Given the description of an element on the screen output the (x, y) to click on. 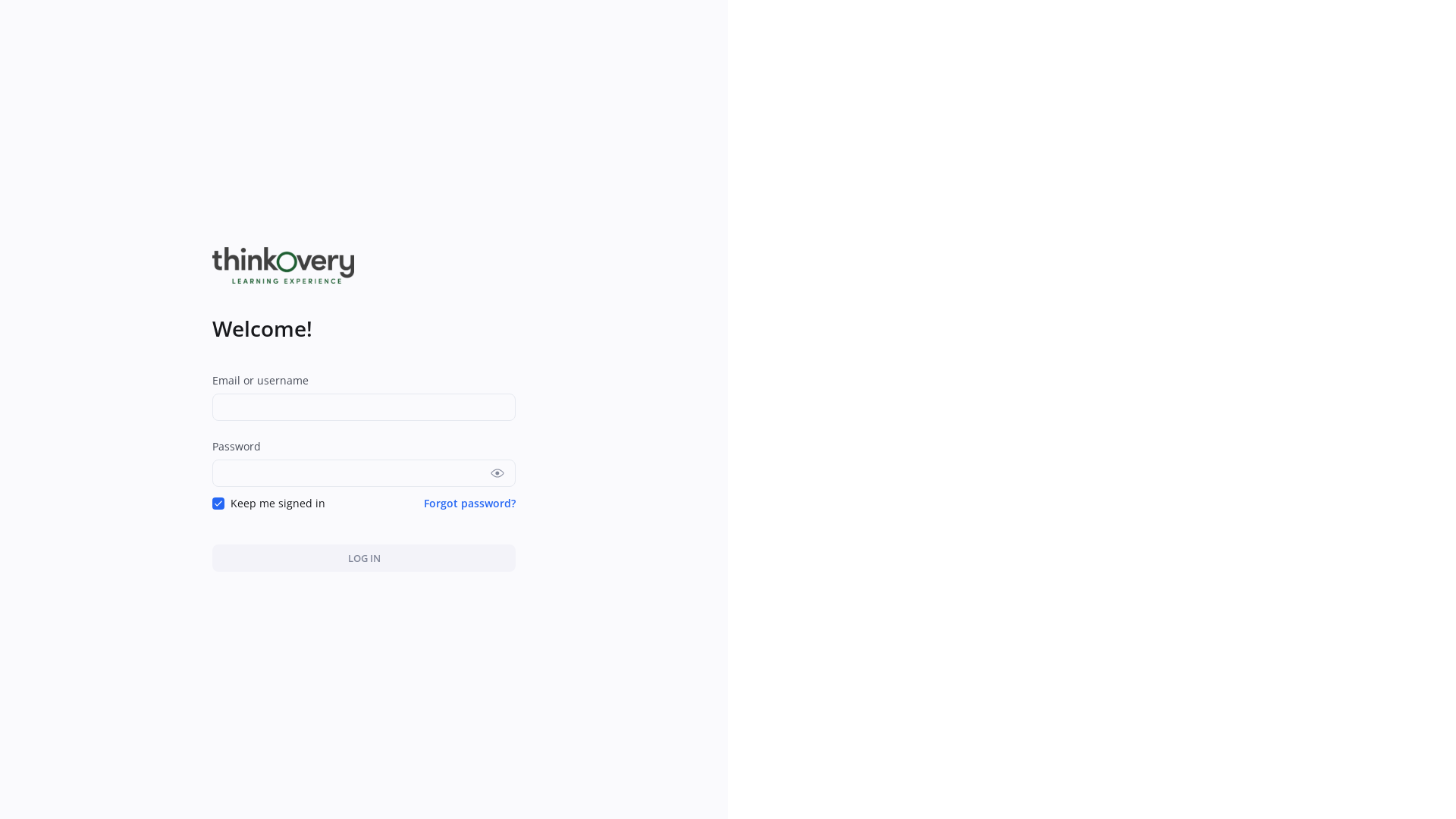
Forgot password? Element type: text (469, 502)
LOG IN Element type: text (363, 557)
